Given the description of an element on the screen output the (x, y) to click on. 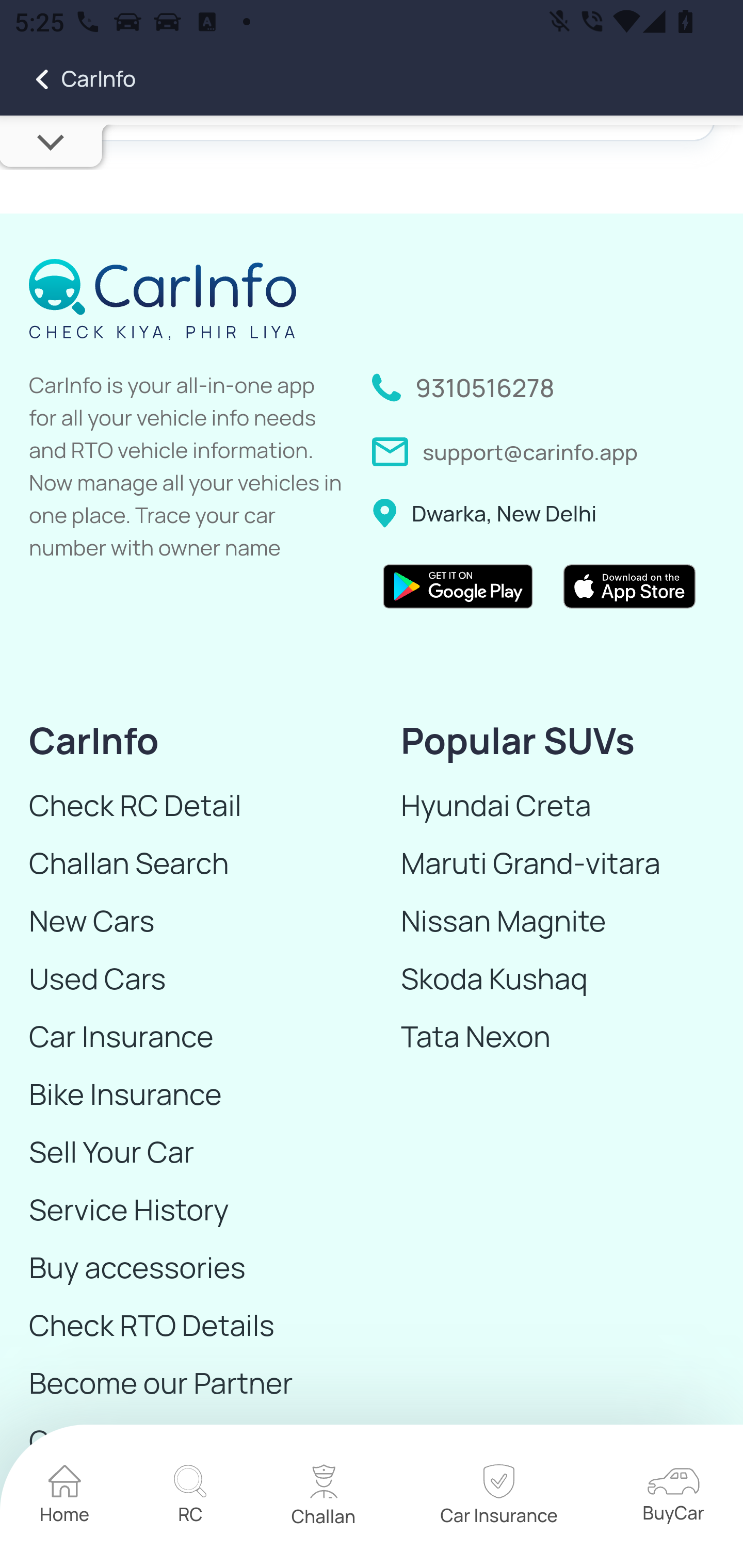
CarInfo (67, 79)
9310516278 (485, 387)
support@carinfo.app (530, 451)
playstore (458, 588)
playstore (628, 588)
Check RC Detail (186, 805)
Hyundai Creta (558, 805)
Challan Search (186, 863)
Maruti Grand-vitara (558, 863)
New Cars (186, 920)
Nissan Magnite (558, 920)
Used Cars (186, 978)
Skoda Kushaq (558, 978)
Car Insurance (186, 1036)
Tata Nexon (558, 1036)
Bike Insurance (186, 1094)
Sell Your Car (186, 1152)
Service History (186, 1210)
Buy accessories (186, 1267)
Check RTO Details (186, 1325)
Become our Partner (186, 1383)
home Home home Home (64, 1497)
home RC home RC (190, 1497)
home Challan home Challan (323, 1497)
home Car Insurance home Car Insurance (497, 1497)
home BuyCar home BuyCar (672, 1497)
